Given the description of an element on the screen output the (x, y) to click on. 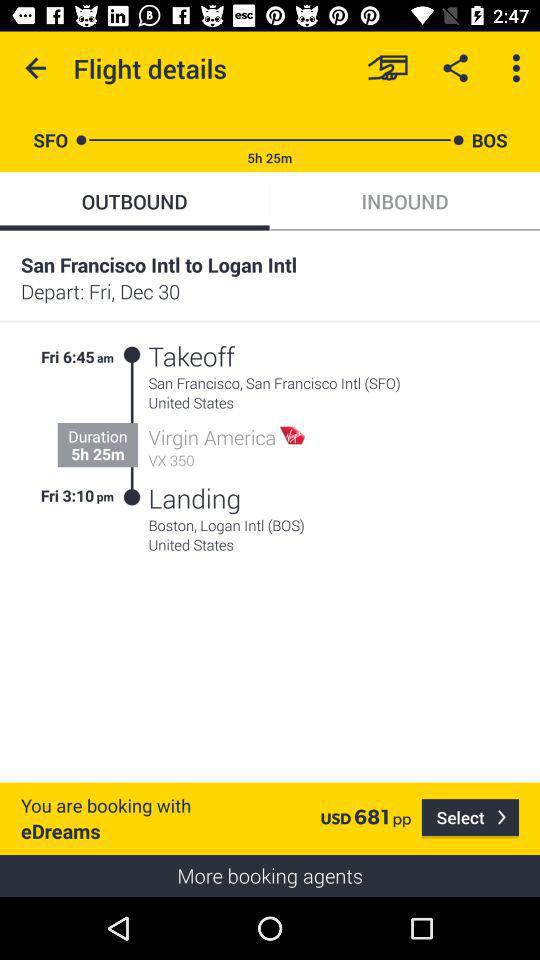
open icon to the left of the takeoff item (131, 426)
